Given the description of an element on the screen output the (x, y) to click on. 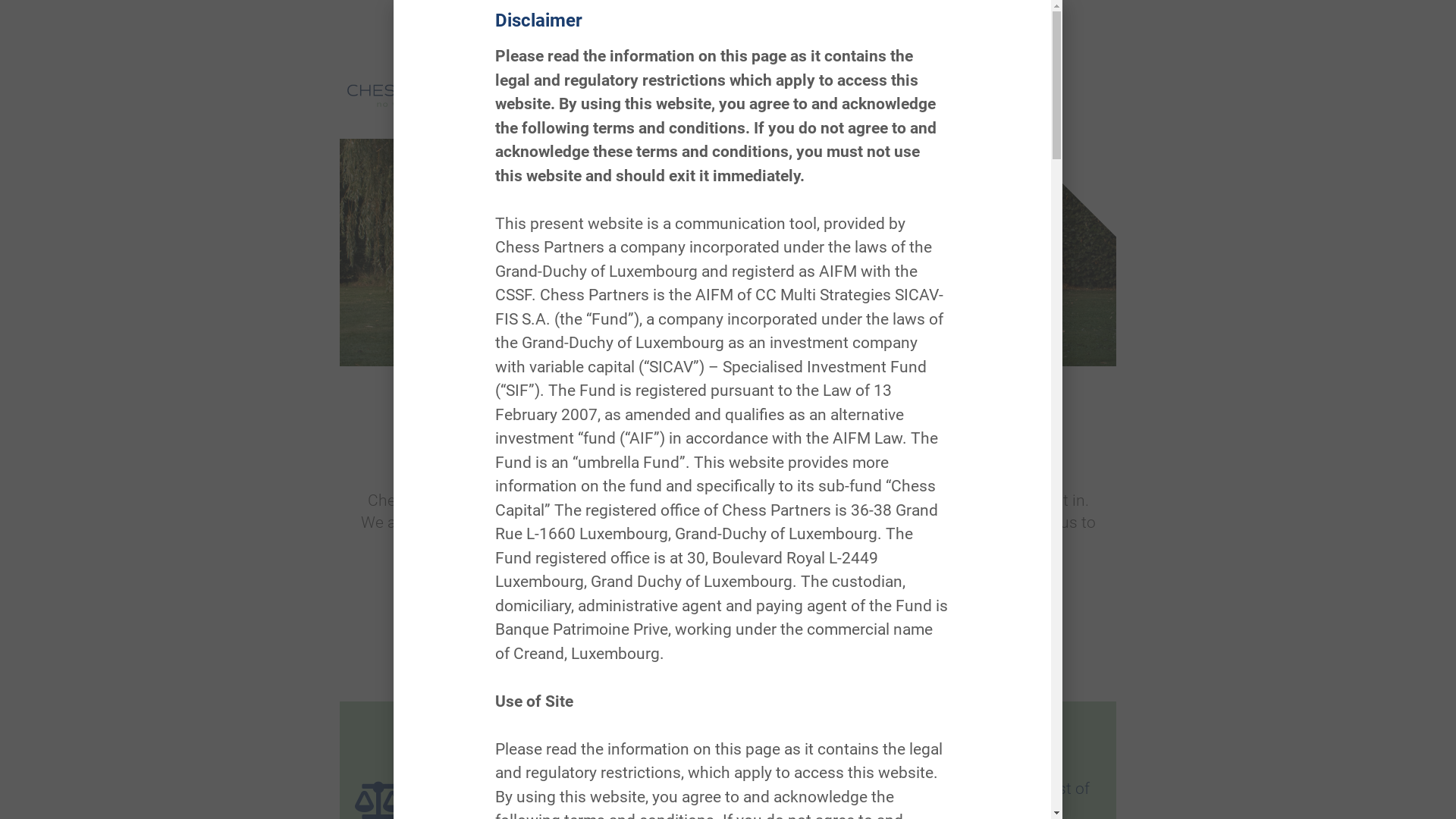
CONTACT Element type: text (935, 64)
ChessCapital.logo Element type: hover (417, 76)
Groene-pijl.png Element type: hover (727, 420)
Chess Capital Owners Manual Element type: text (865, 613)
LETTERS & DOCUMENTS Element type: text (822, 64)
Groene-pijl.png Element type: hover (727, 675)
HOME Element type: text (665, 64)
TEAM Element type: text (719, 64)
